Given the description of an element on the screen output the (x, y) to click on. 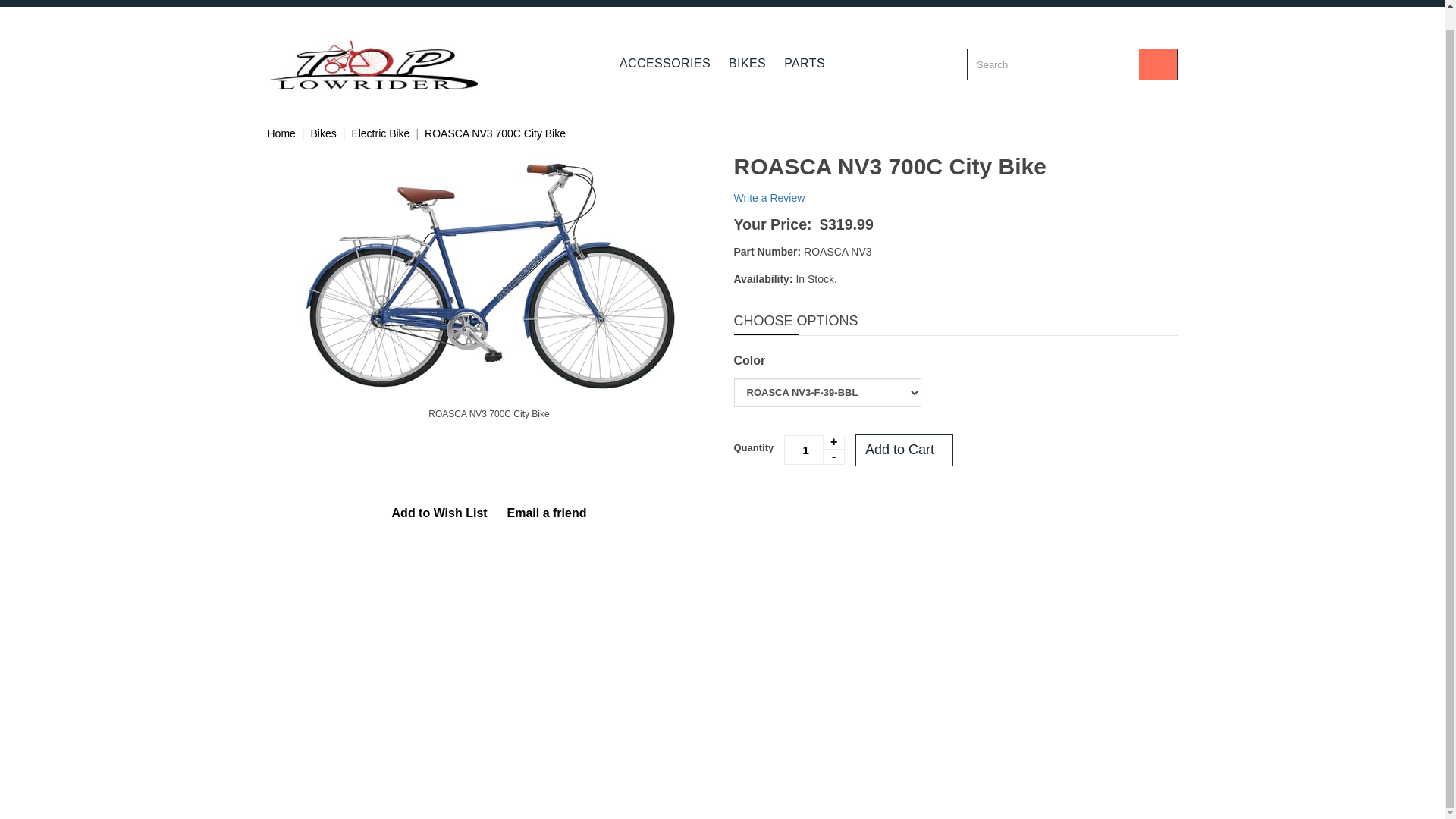
ROASCA NV3 700C City Bike  (488, 413)
ACCESSORIES (664, 63)
Home (280, 133)
Bikes (323, 133)
BIKES (746, 63)
Contact Us (344, 0)
1 (814, 449)
Add to Wish List (439, 513)
Email a friend (547, 513)
ROASCA NV3 700C City Bike (495, 133)
